Given the description of an element on the screen output the (x, y) to click on. 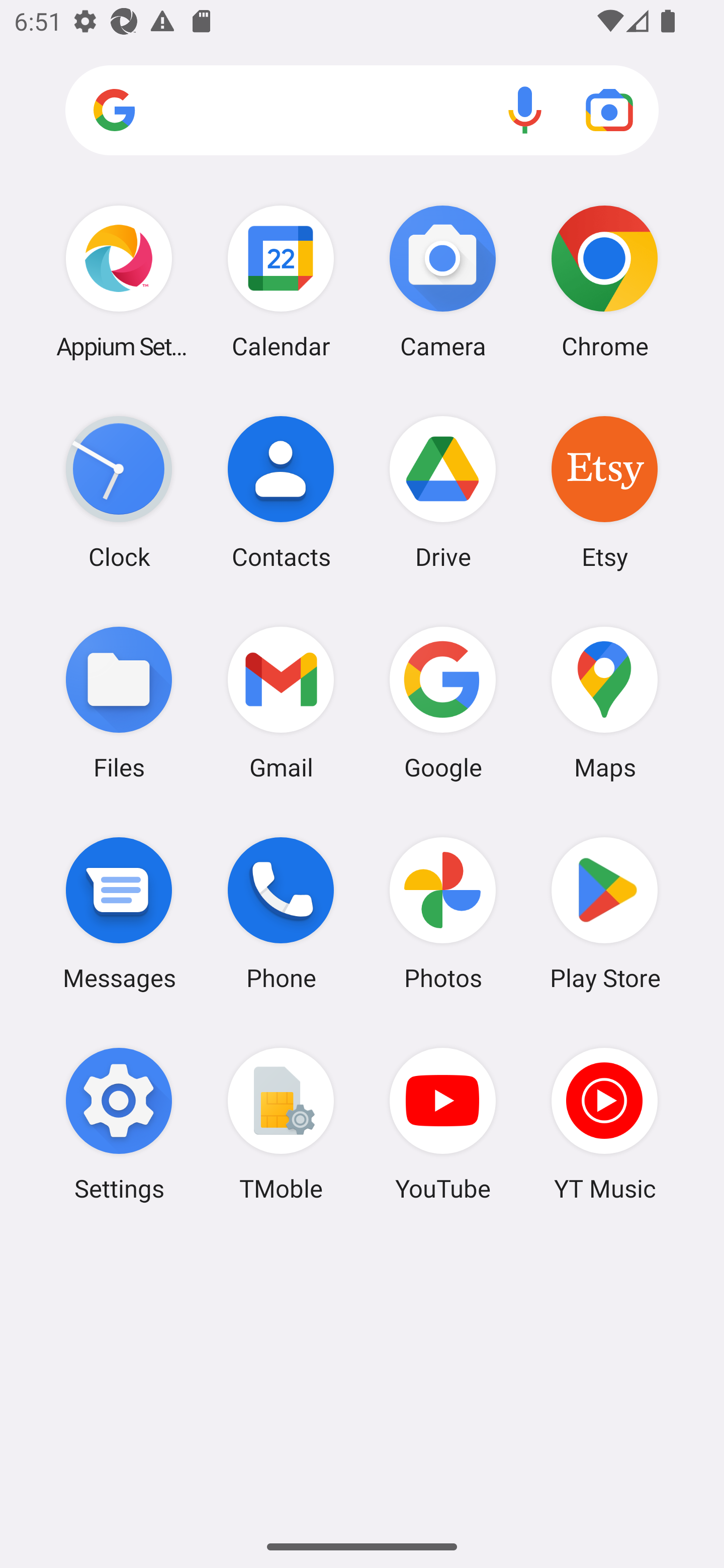
Search apps, web and more (361, 110)
Voice search (524, 109)
Google Lens (608, 109)
Appium Settings (118, 281)
Calendar (280, 281)
Camera (443, 281)
Chrome (604, 281)
Clock (118, 492)
Contacts (280, 492)
Drive (443, 492)
Etsy (604, 492)
Files (118, 702)
Gmail (280, 702)
Google (443, 702)
Maps (604, 702)
Messages (118, 913)
Phone (280, 913)
Photos (443, 913)
Play Store (604, 913)
Settings (118, 1124)
TMoble (280, 1124)
YouTube (443, 1124)
YT Music (604, 1124)
